Given the description of an element on the screen output the (x, y) to click on. 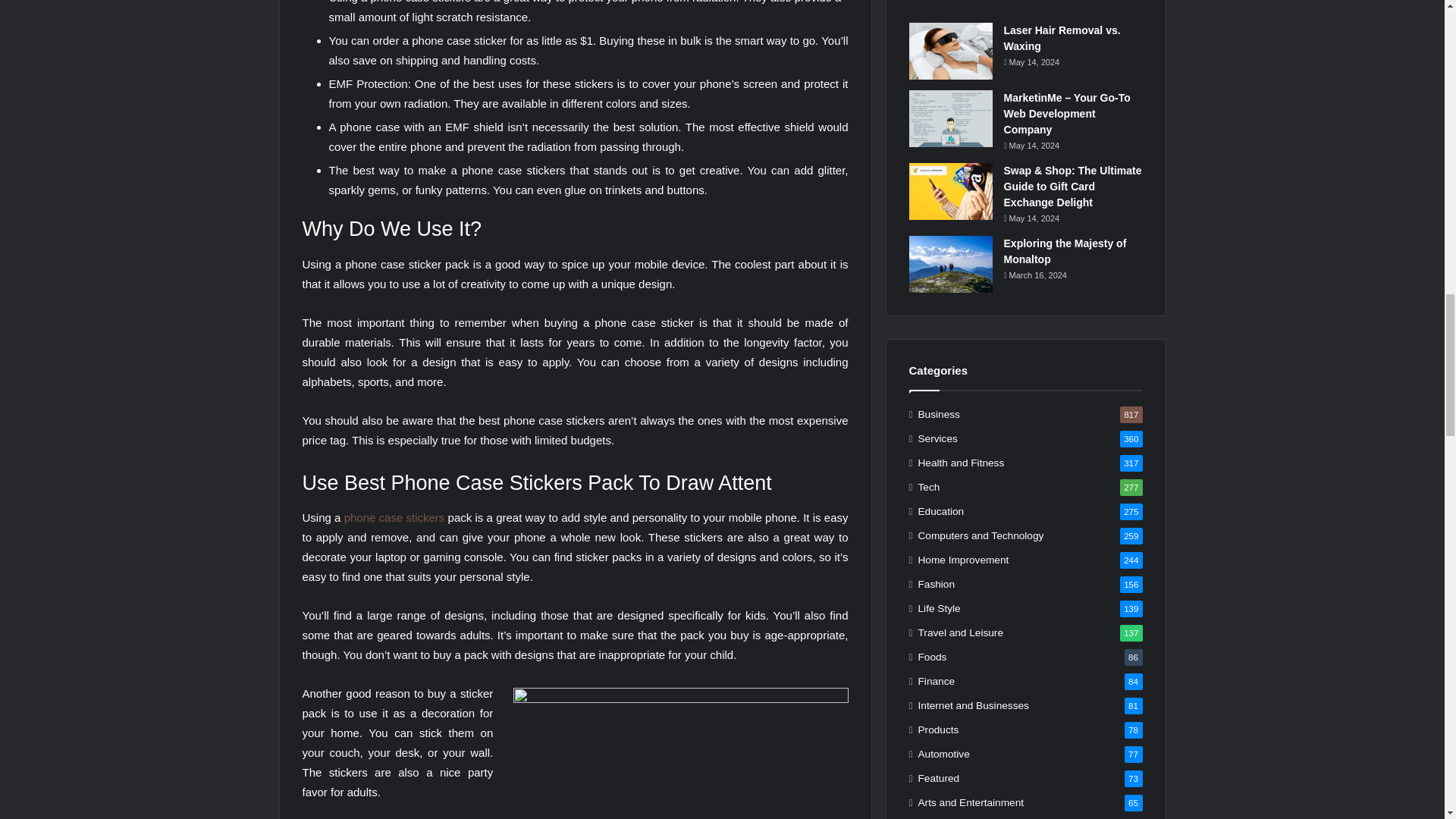
phone case stickers (394, 517)
